Given the description of an element on the screen output the (x, y) to click on. 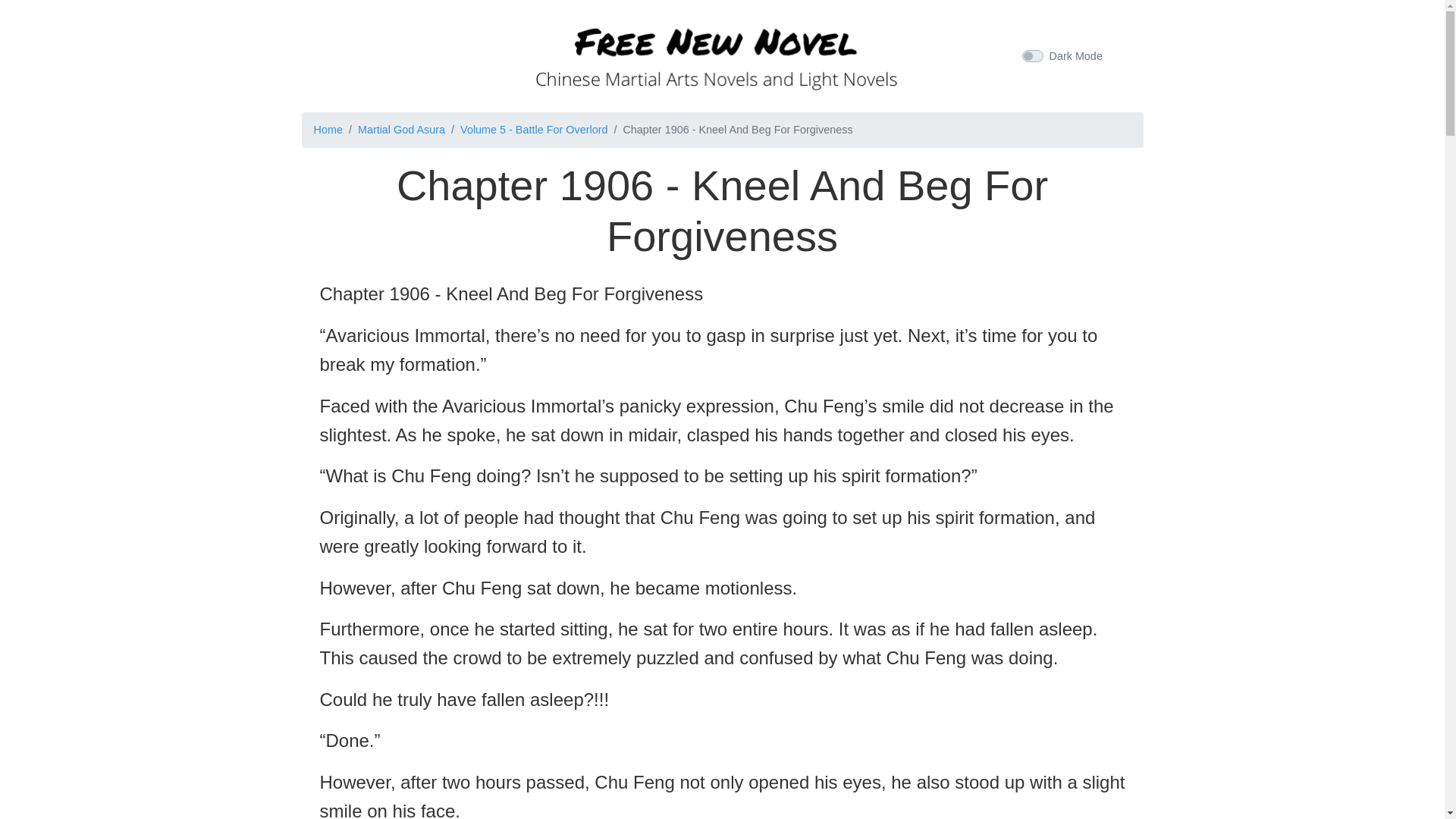
Volume 5 - Battle For Overlord (533, 129)
Free Novel Online (716, 53)
Martial God Asura (401, 129)
Home (328, 129)
